Given the description of an element on the screen output the (x, y) to click on. 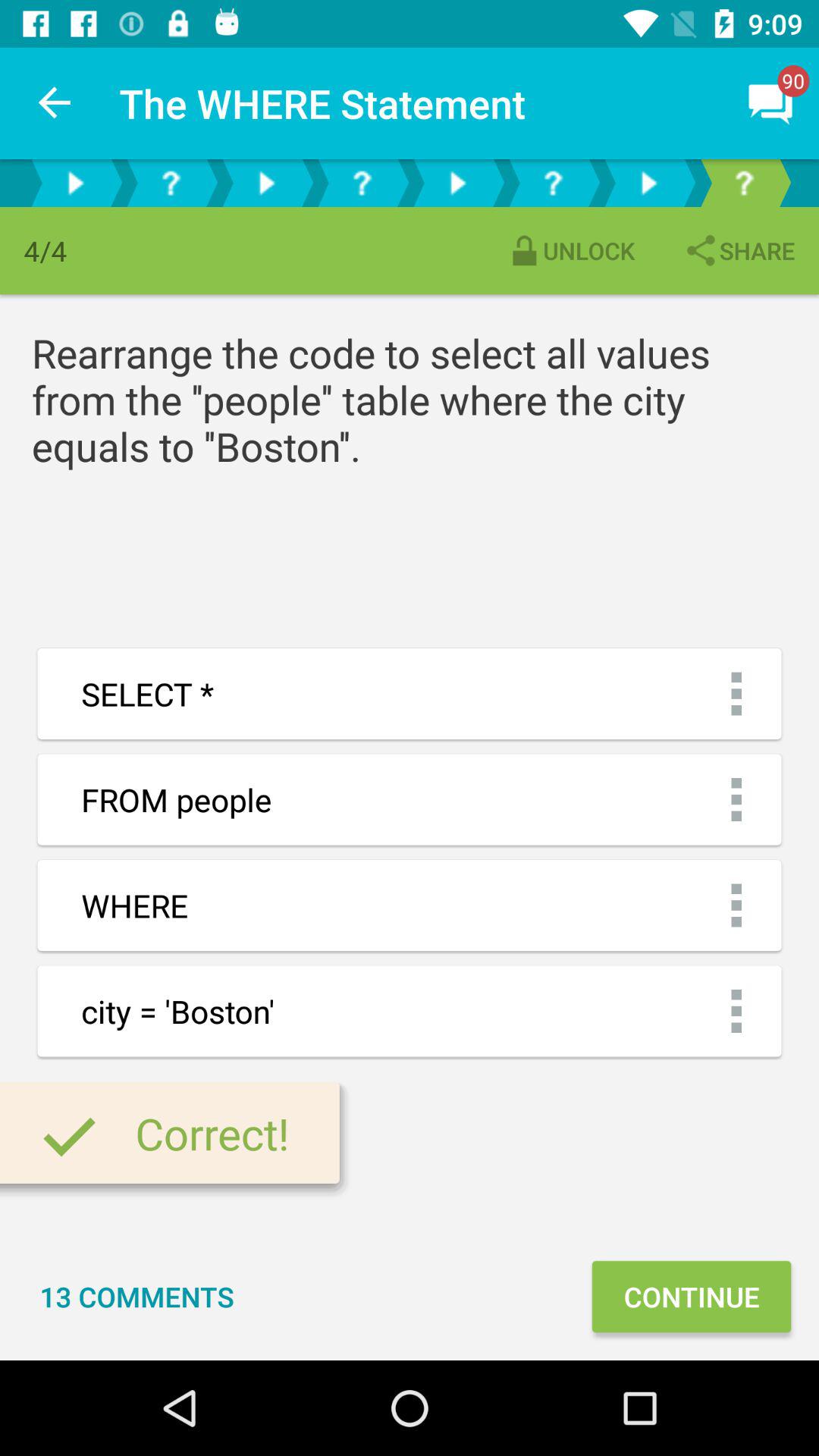
open icon next to unlock (738, 250)
